Given the description of an element on the screen output the (x, y) to click on. 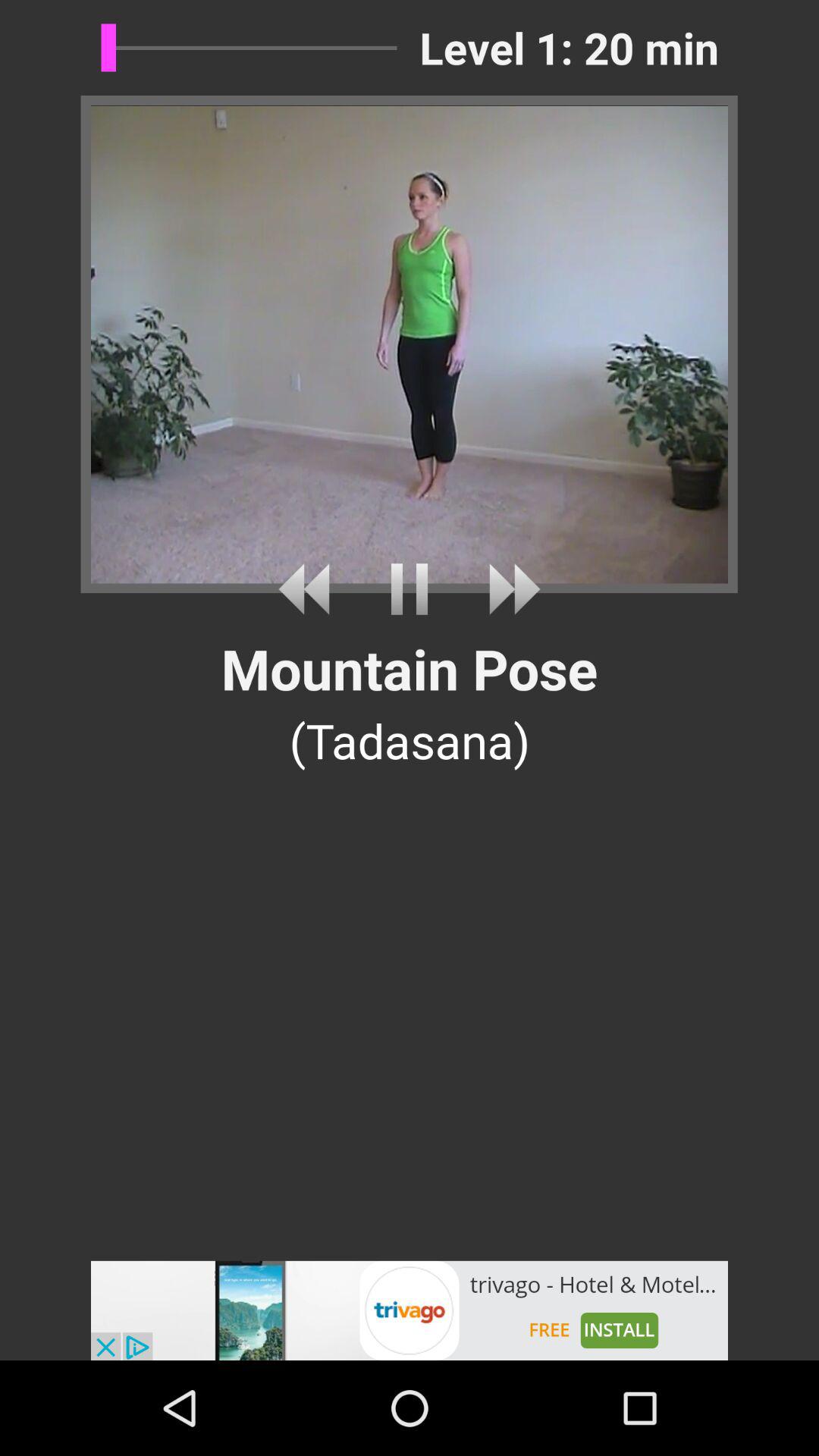
mountain pose game (409, 589)
